Given the description of an element on the screen output the (x, y) to click on. 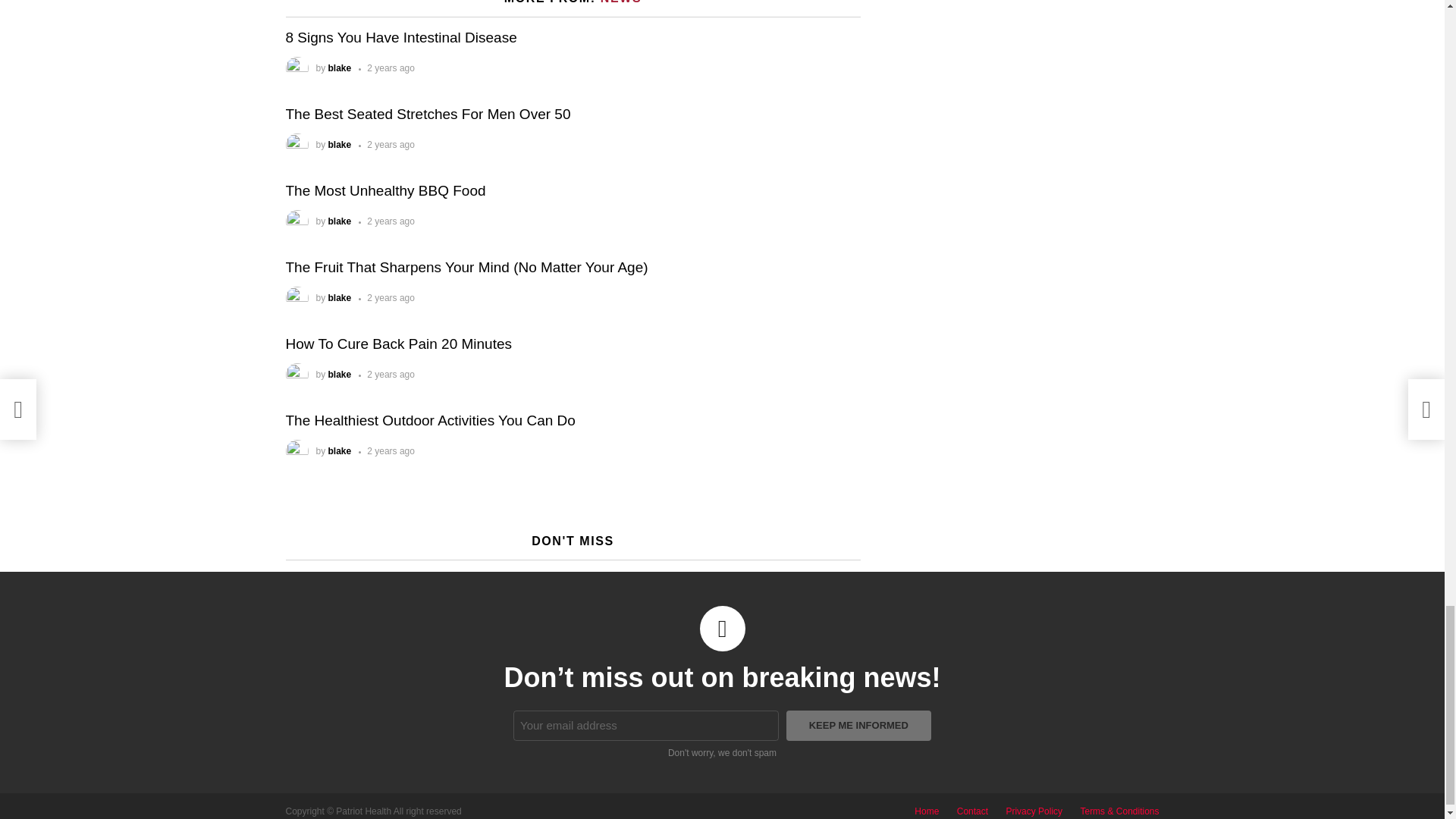
Posts by blake (340, 374)
Posts by blake (340, 68)
Posts by blake (340, 144)
KEEP ME INFORMED (858, 725)
Posts by blake (340, 297)
Posts by blake (340, 450)
Posts by blake (340, 221)
